Given the description of an element on the screen output the (x, y) to click on. 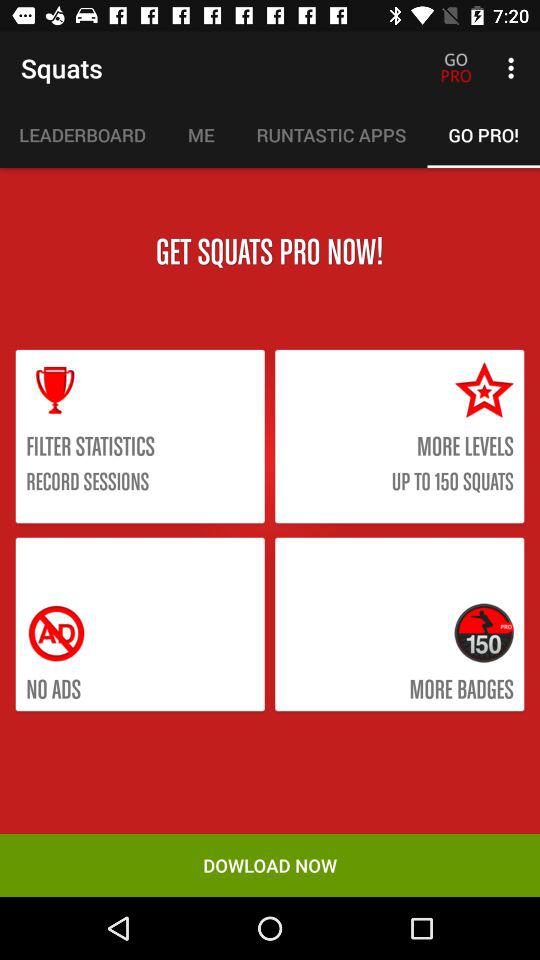
open the item to the left of the me icon (83, 135)
